Given the description of an element on the screen output the (x, y) to click on. 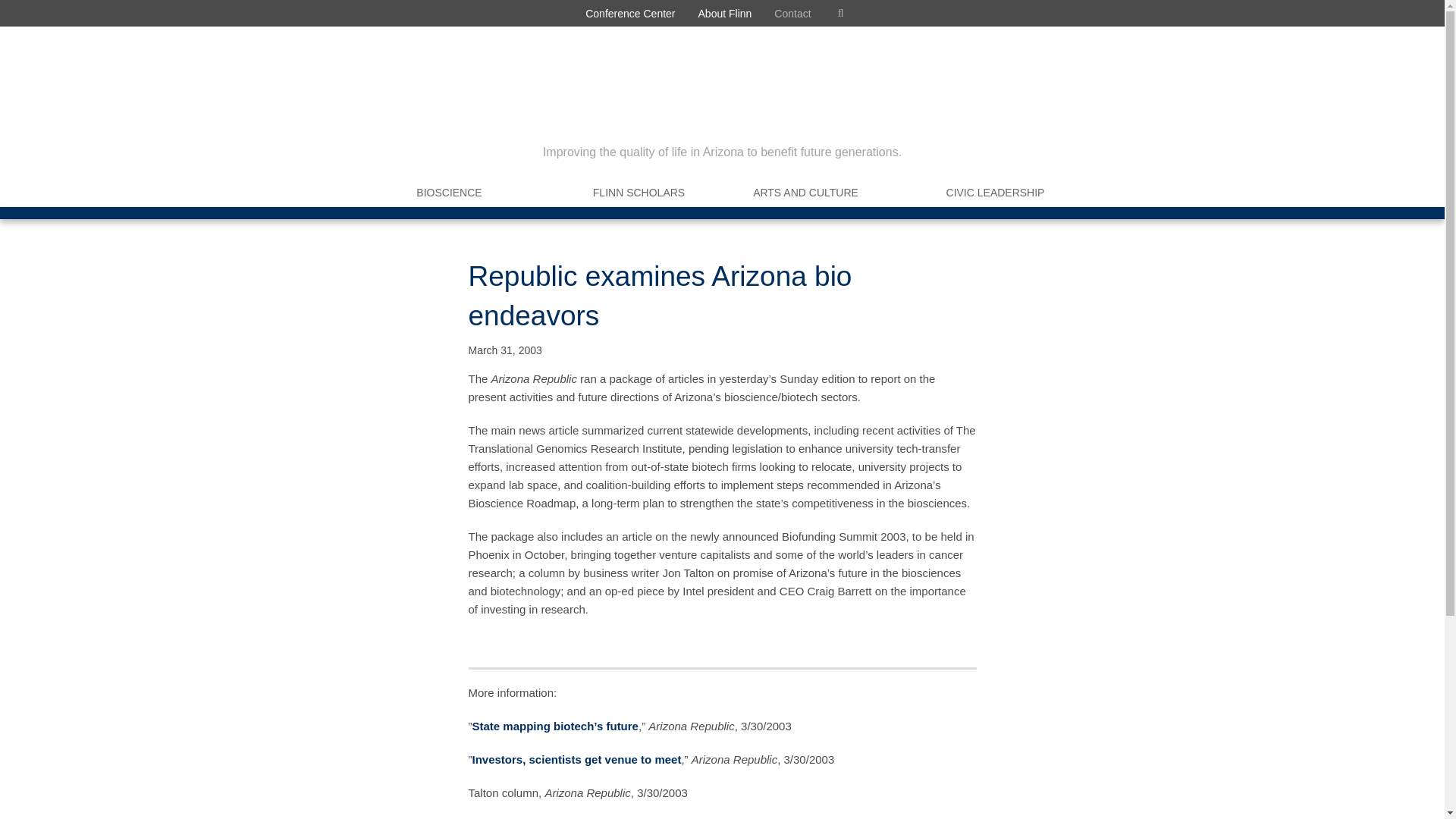
Contact (792, 13)
Conference Center (629, 13)
About Flinn (724, 13)
BIOSCIENCE (448, 192)
